Given the description of an element on the screen output the (x, y) to click on. 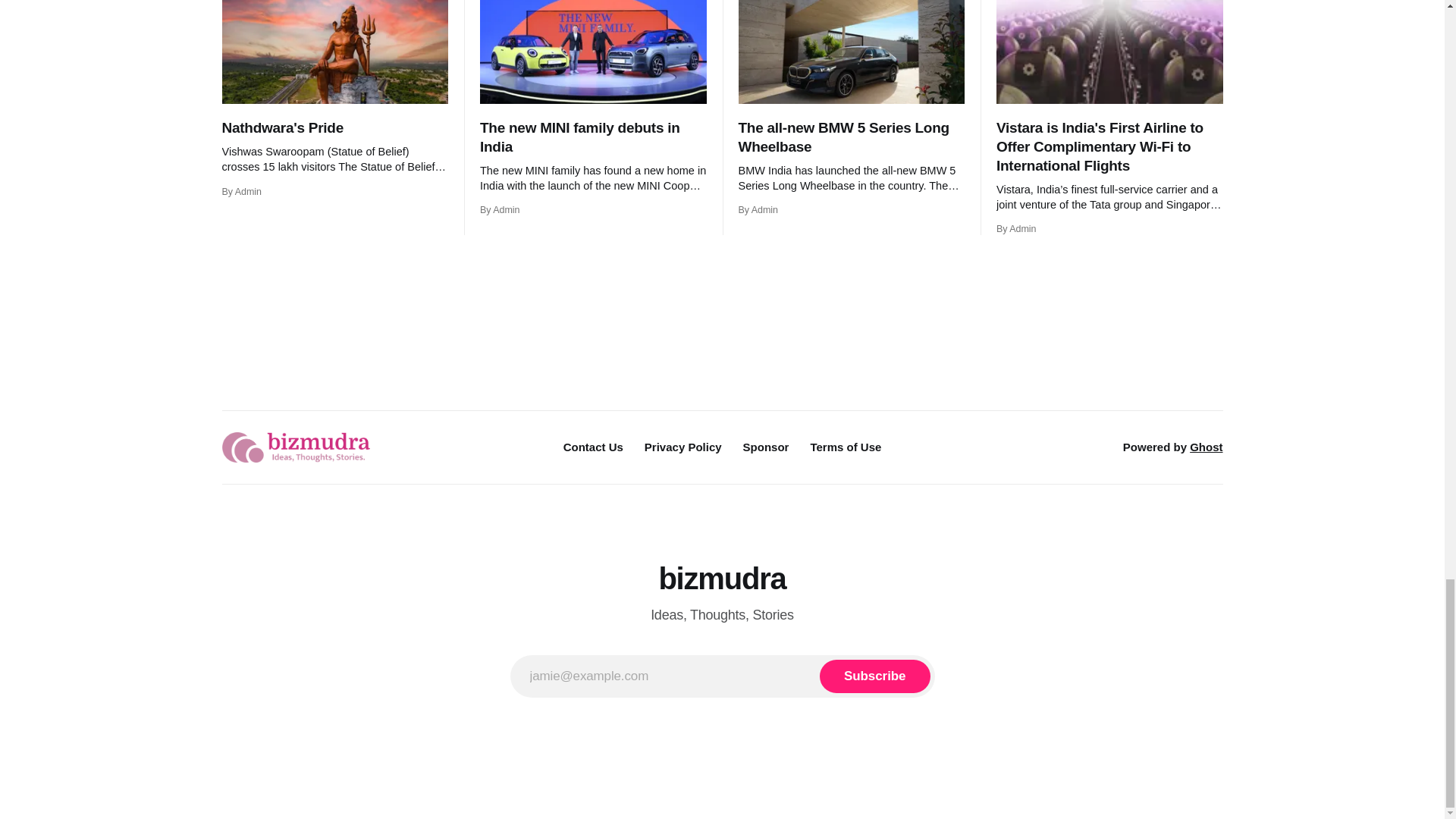
Terms of Use (844, 446)
Sponsor (765, 446)
Privacy Policy (683, 446)
Contact Us (593, 446)
Ghost (1206, 446)
Subscribe (874, 676)
